Given the description of an element on the screen output the (x, y) to click on. 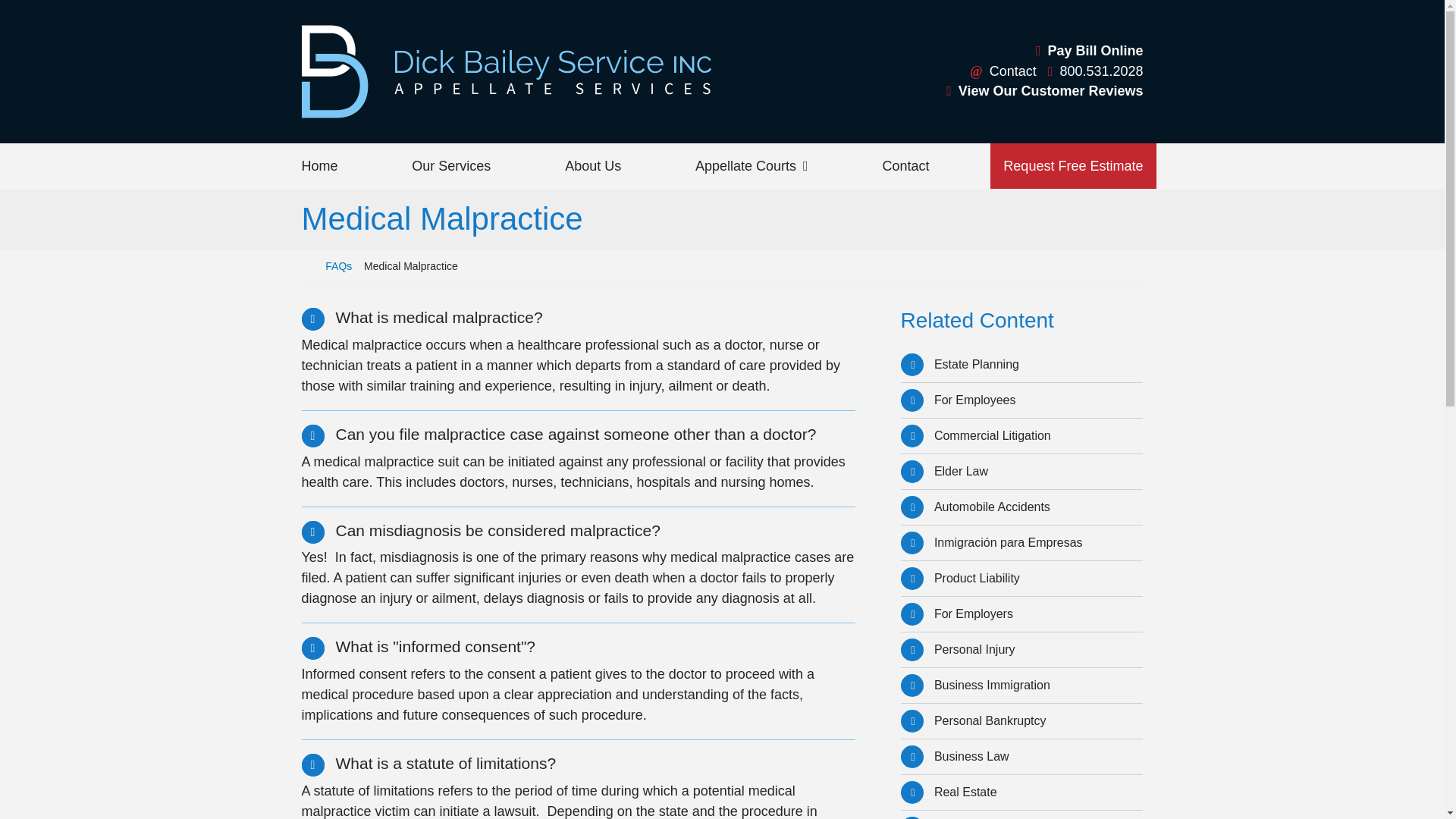
Home (319, 166)
Business Law (1021, 756)
Contact (1002, 71)
Planning for Incapacity (1021, 814)
Our Services (450, 166)
Personal Bankruptcy (1021, 720)
Return home (307, 265)
View Our Customer Reviews (1044, 91)
For Employers (1021, 614)
FAQs (338, 265)
Product Liability (1021, 578)
About Us (592, 166)
Pay Bill Online (1088, 51)
Estate Planning (1021, 364)
For Employees (1021, 400)
